Given the description of an element on the screen output the (x, y) to click on. 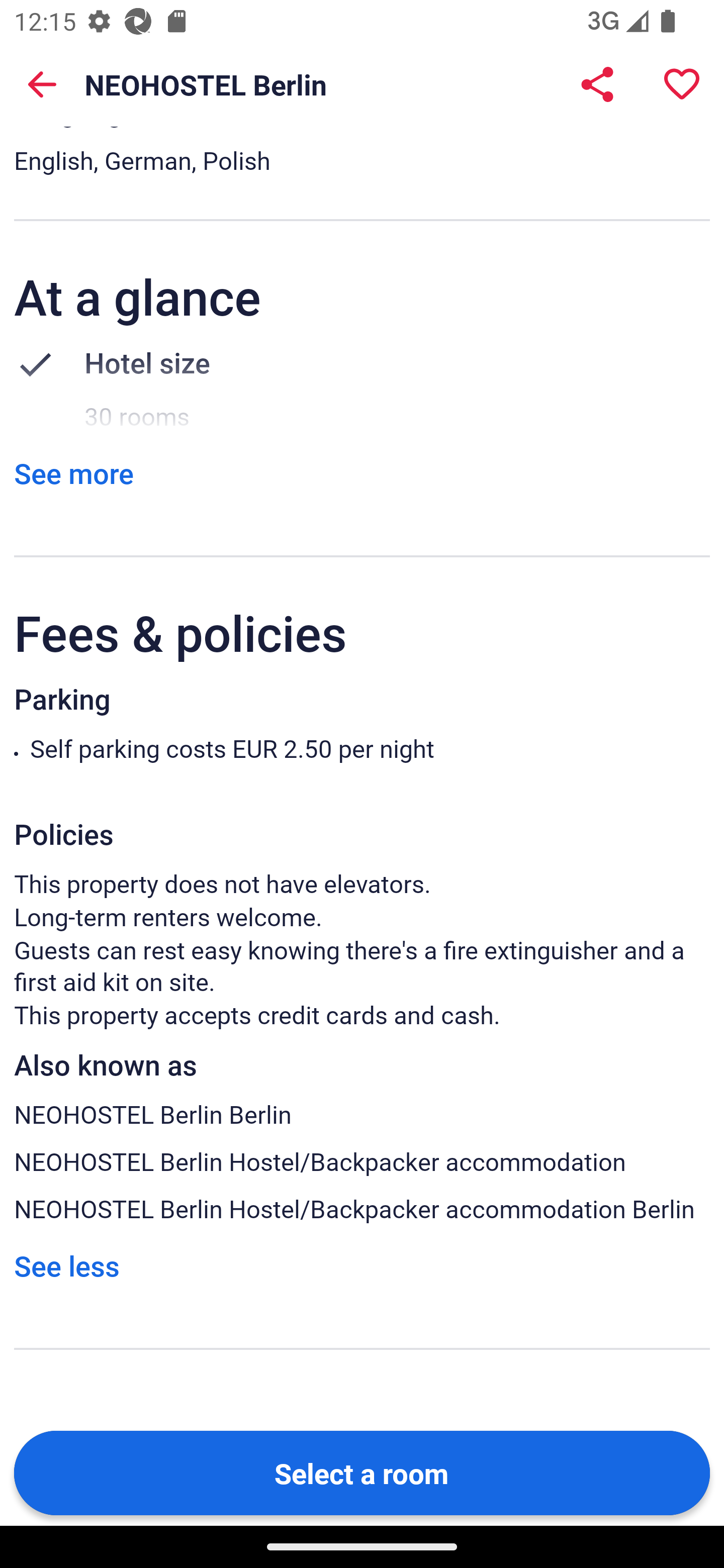
Back (42, 84)
Save property to a trip (681, 84)
Share NEOHOSTEL Berlin (597, 84)
See more See more Link (73, 473)
See less See less Link (66, 1265)
Select a room Button Select a room (361, 1472)
